Given the description of an element on the screen output the (x, y) to click on. 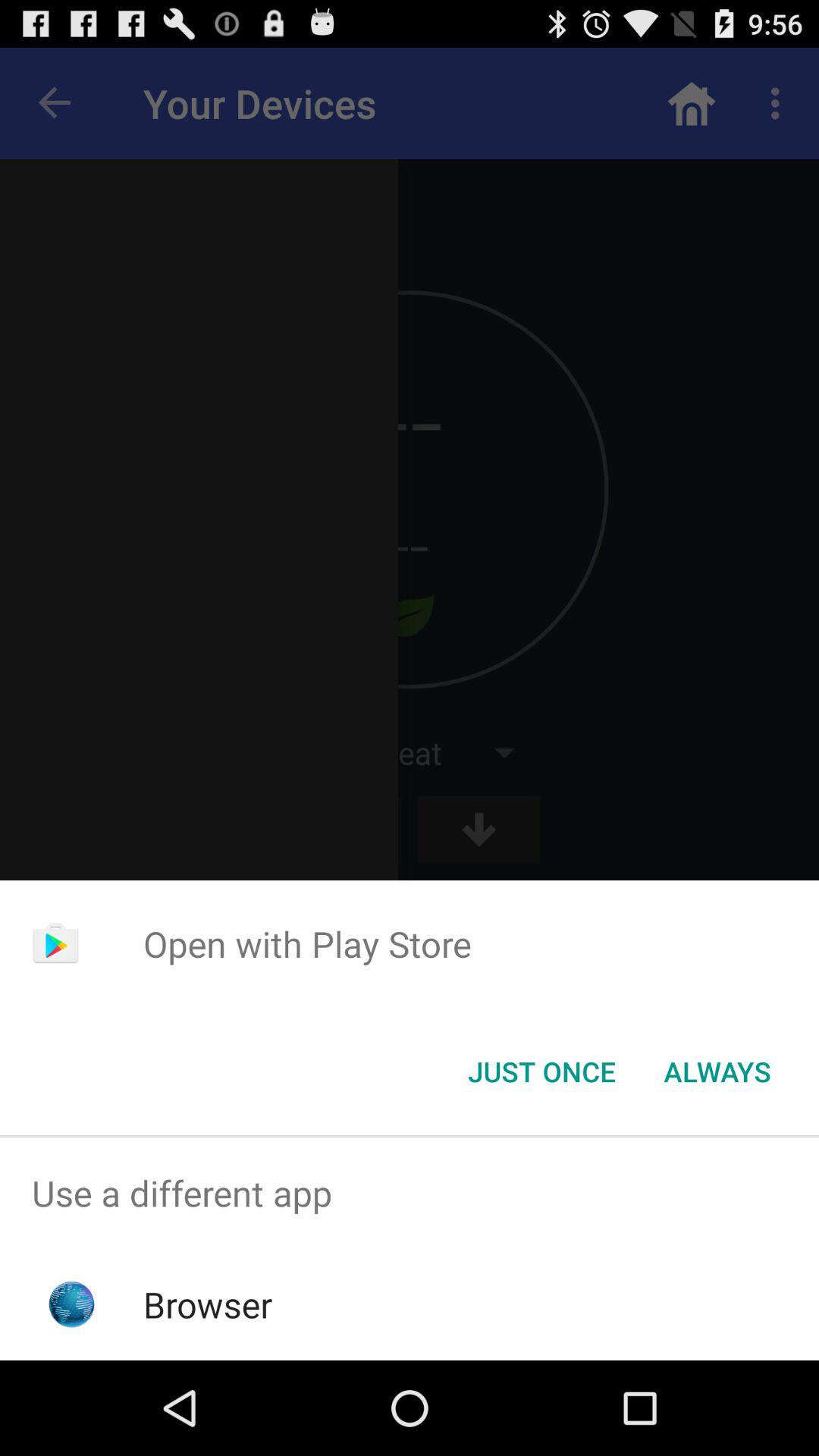
jump to just once button (541, 1071)
